Given the description of an element on the screen output the (x, y) to click on. 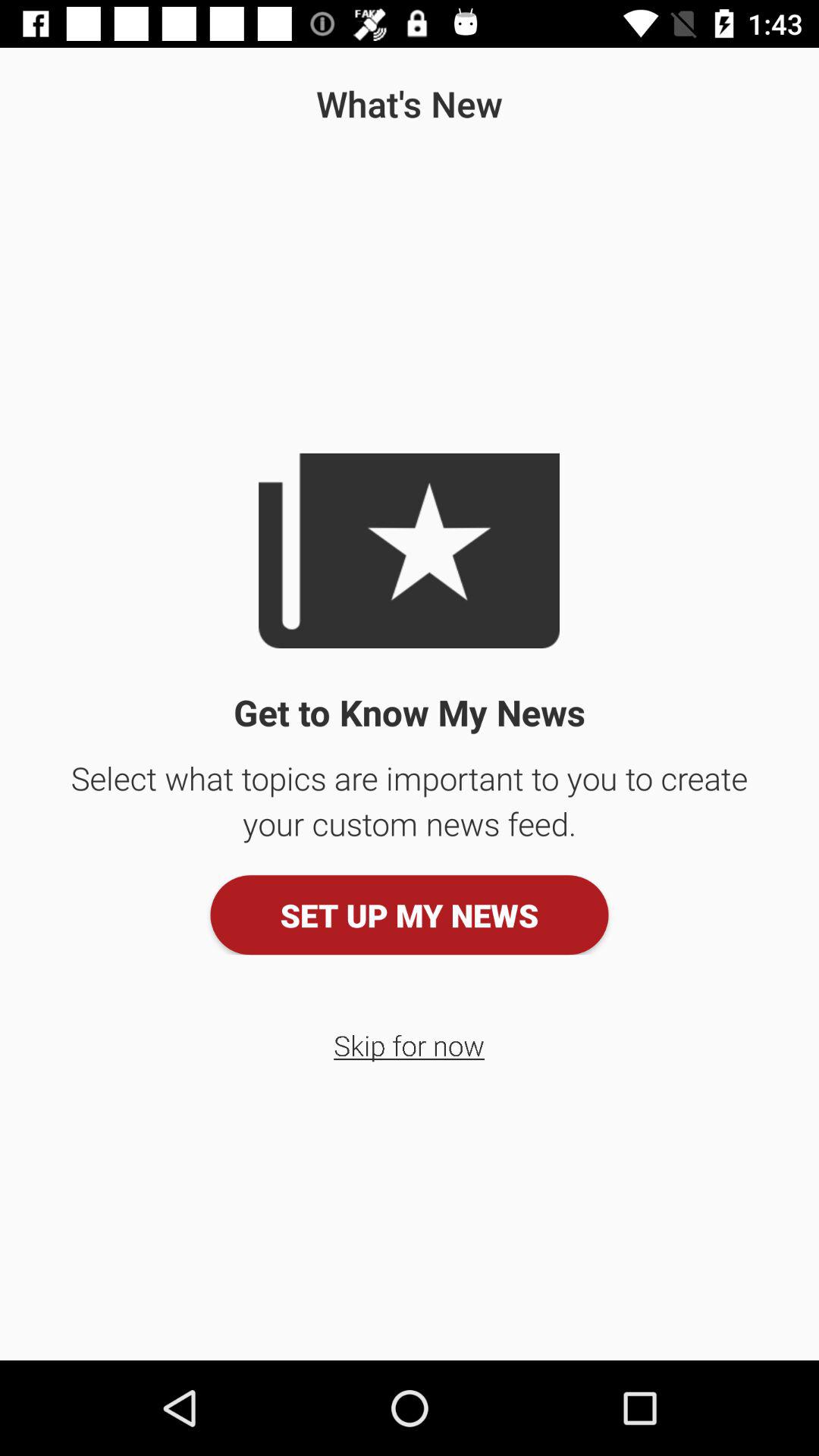
scroll to set up my (409, 914)
